Given the description of an element on the screen output the (x, y) to click on. 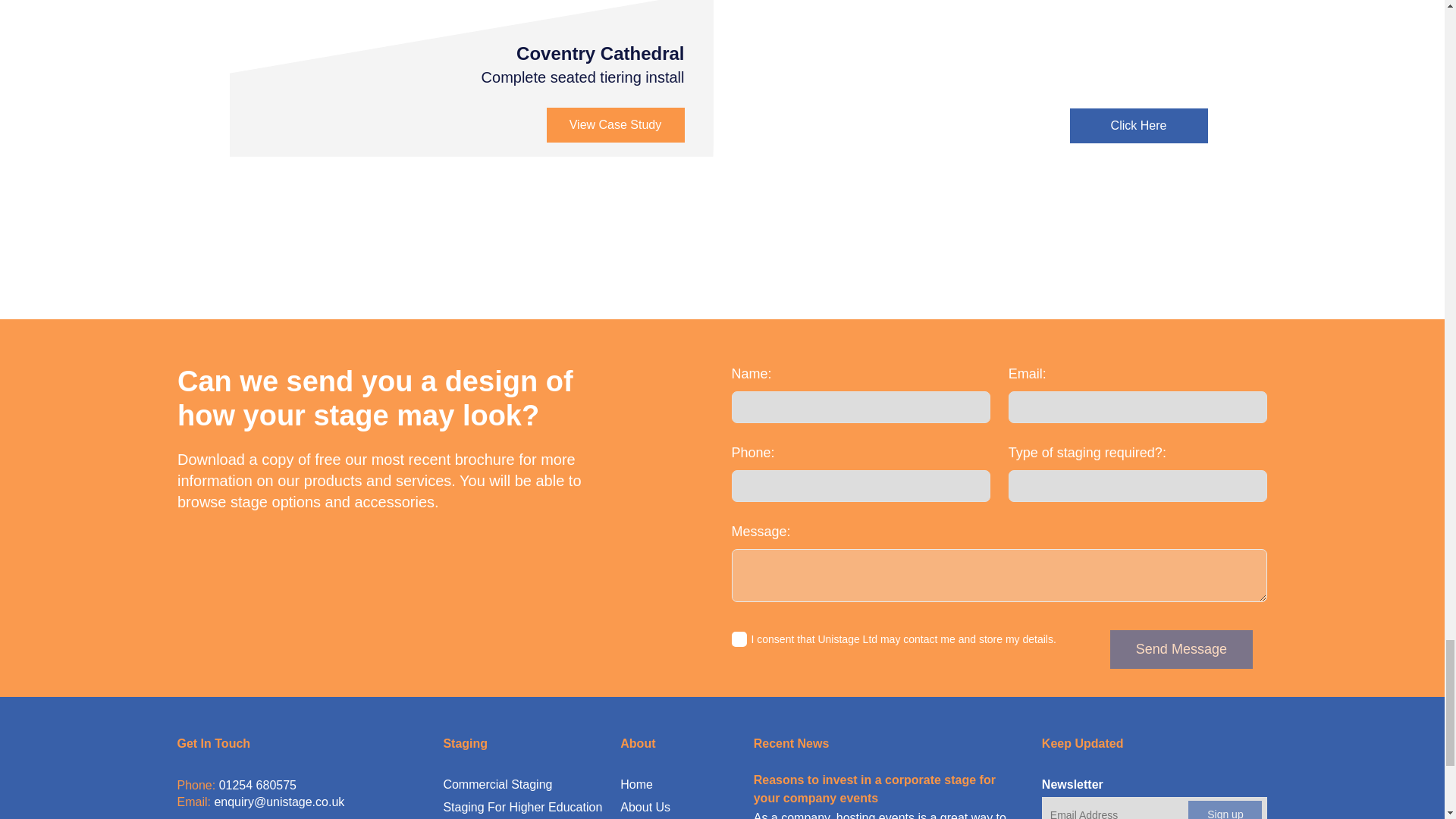
Send Message (1180, 649)
Sign up (1225, 809)
